Given the description of an element on the screen output the (x, y) to click on. 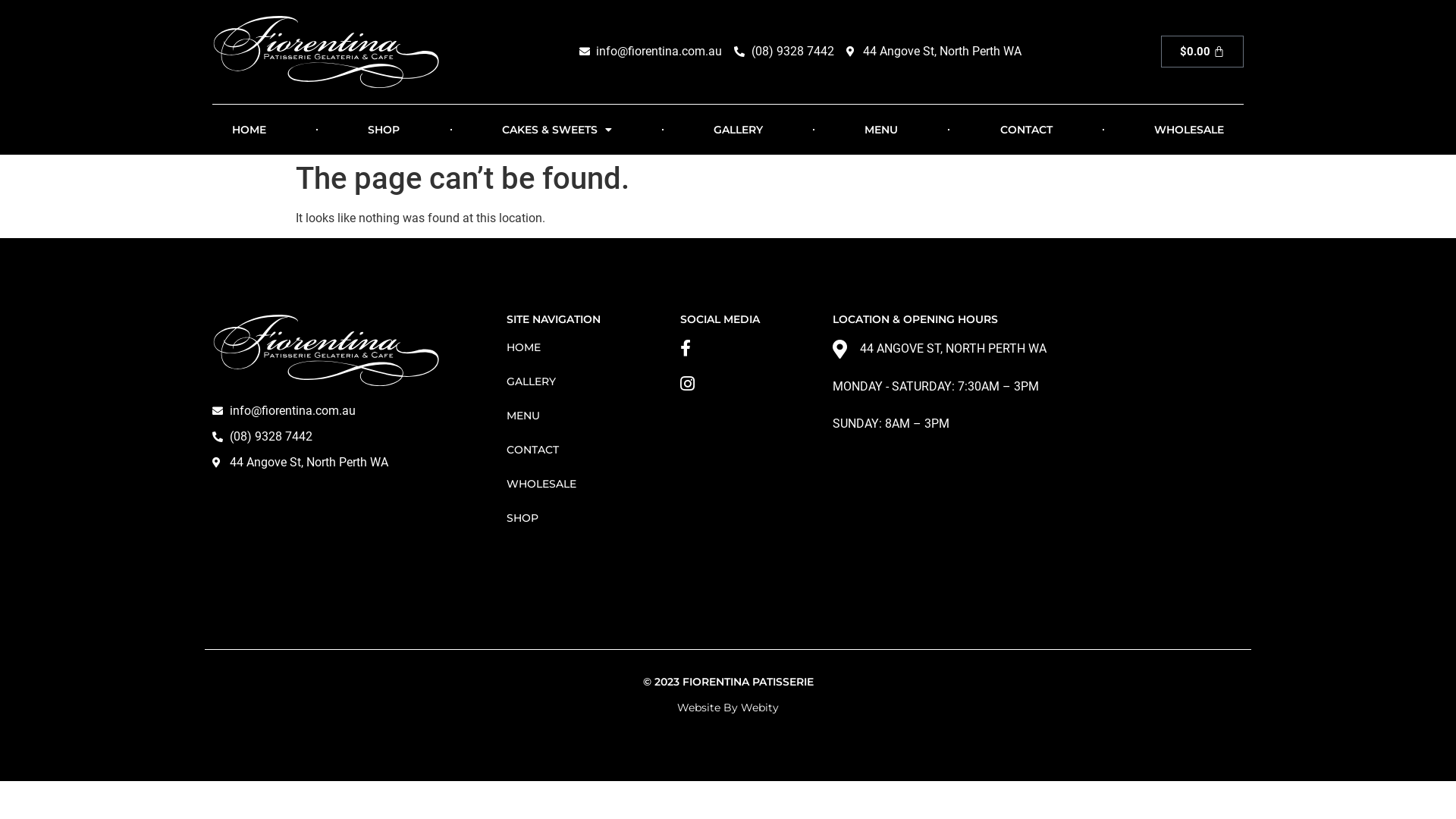
HOME Element type: text (248, 129)
Website By Webity Element type: text (727, 707)
GALLERY Element type: text (738, 129)
CONTACT Element type: text (577, 449)
WHOLESALE Element type: text (577, 483)
SHOP Element type: text (577, 517)
(08) 9328 7442 Element type: text (784, 51)
MENU Element type: text (577, 415)
44 ANGOVE STREET NORTH PERTH WESTERN AUSTRALIA Element type: hover (1037, 523)
SHOP Element type: text (383, 129)
info@fiorentina.com.au Element type: text (344, 410)
MENU Element type: text (881, 129)
WHOLESALE Element type: text (1188, 129)
HOME Element type: text (577, 346)
(08) 9328 7442 Element type: text (344, 436)
CONTACT Element type: text (1025, 129)
$0.00 Element type: text (1201, 51)
GALLERY Element type: text (577, 381)
CAKES & SWEETS Element type: text (556, 129)
info@fiorentina.com.au Element type: text (650, 51)
